Given the description of an element on the screen output the (x, y) to click on. 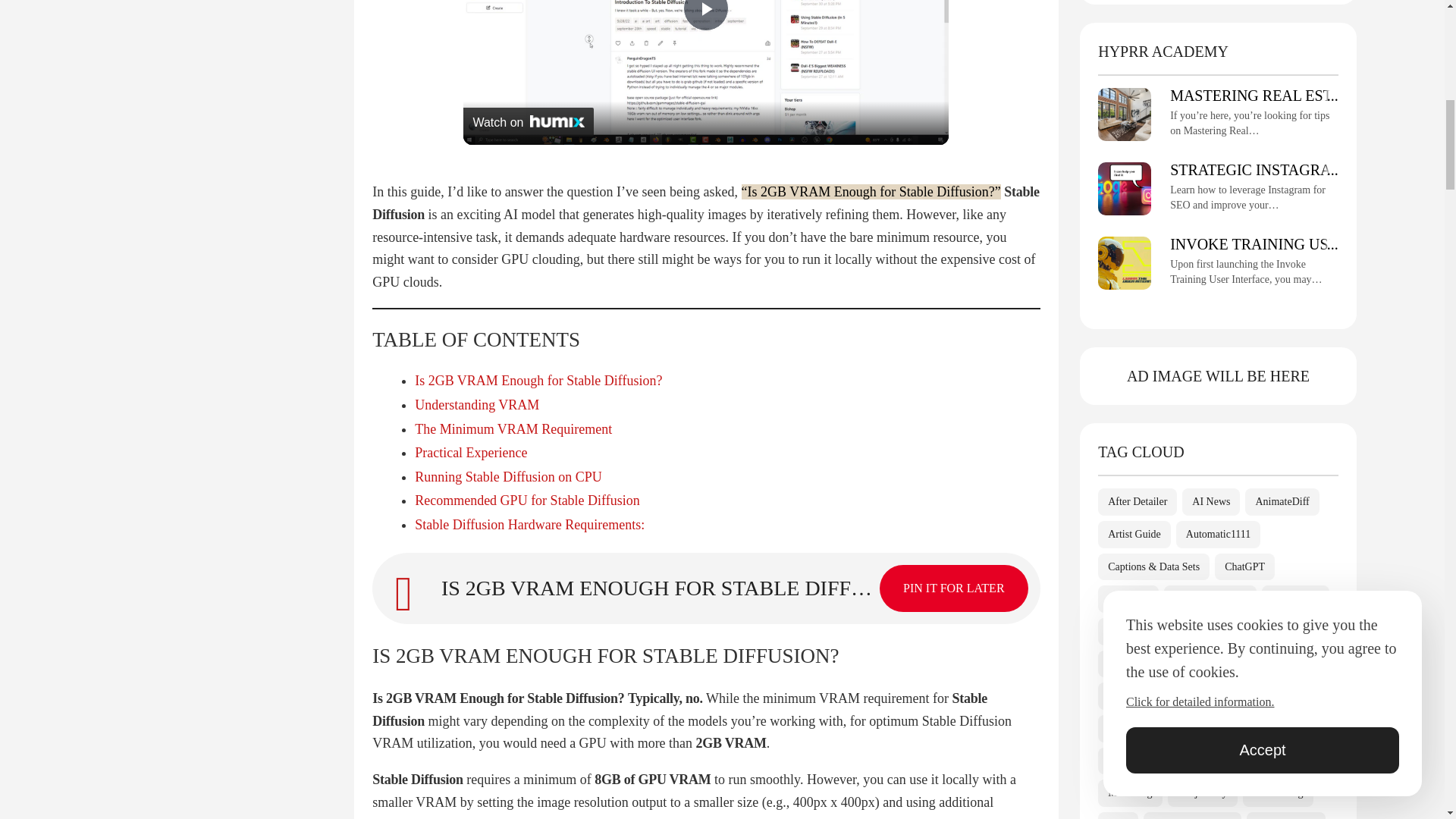
The Minimum VRAM Requirement (512, 428)
Watch on (528, 121)
Stable Diffusion Hardware Requirements: (529, 524)
Recommended GPU for Stable Diffusion (527, 500)
Running Stable Diffusion on CPU (508, 476)
Play Video (705, 15)
Understanding VRAM (476, 404)
Practical Experience (470, 452)
PIN IT FOR LATER (953, 588)
Is 2GB VRAM Enough for Stable Diffusion? (498, 698)
Play Video (705, 15)
Is 2GB VRAM Enough for Stable Diffusion? (538, 380)
